Given the description of an element on the screen output the (x, y) to click on. 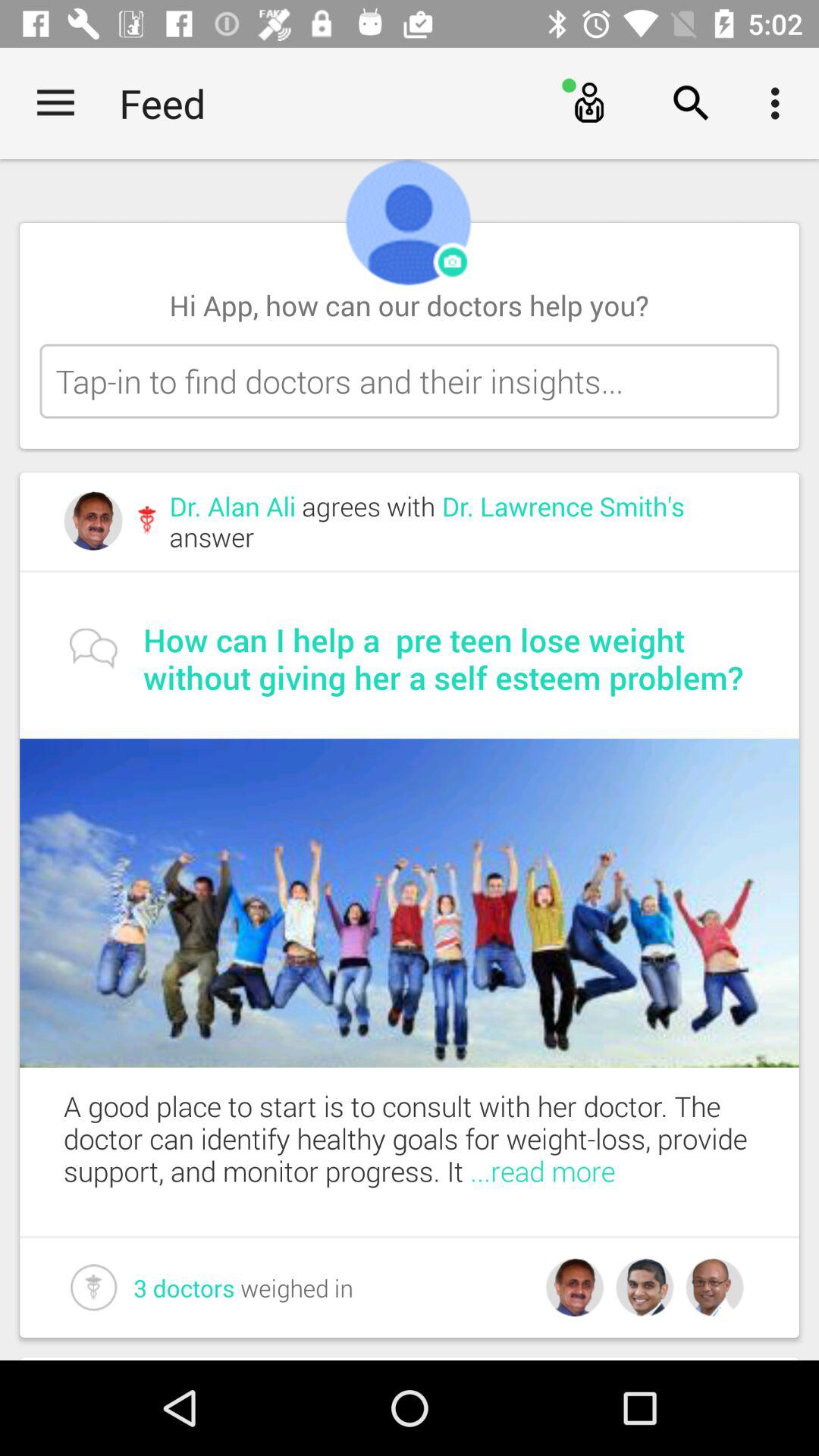
flip until the dr alan ali (462, 521)
